Given the description of an element on the screen output the (x, y) to click on. 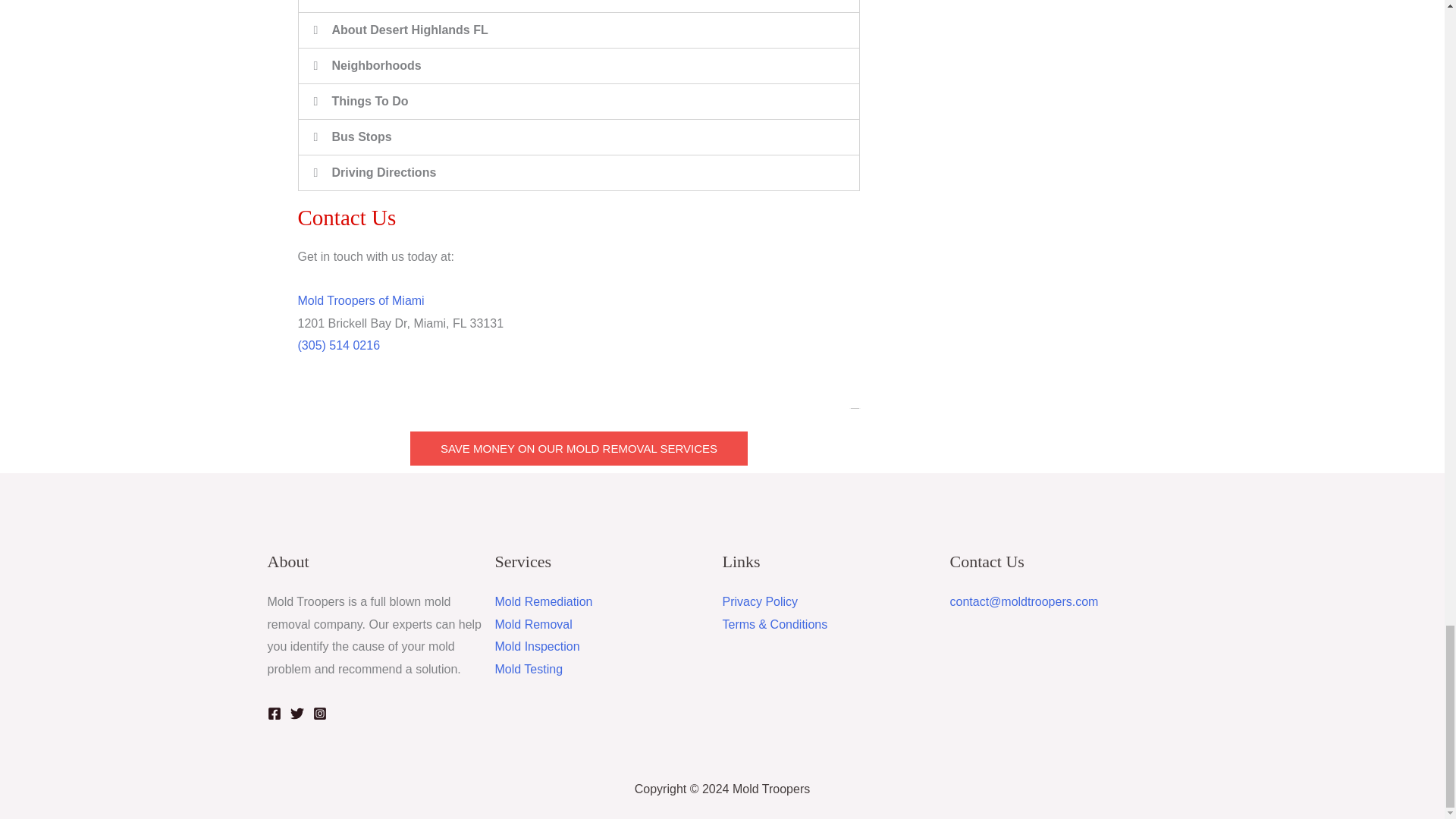
About Desert Highlands FL (409, 29)
Neighborhoods (376, 65)
Driving Directions (383, 172)
Mold Inspection (537, 645)
Bus Stops (361, 136)
Mold Testing (528, 668)
SAVE MONEY ON OUR MOLD REMOVAL SERVICES (579, 448)
Mold Troopers of Miami (360, 300)
Privacy Policy (759, 601)
Mold Remediation (543, 601)
